Given the description of an element on the screen output the (x, y) to click on. 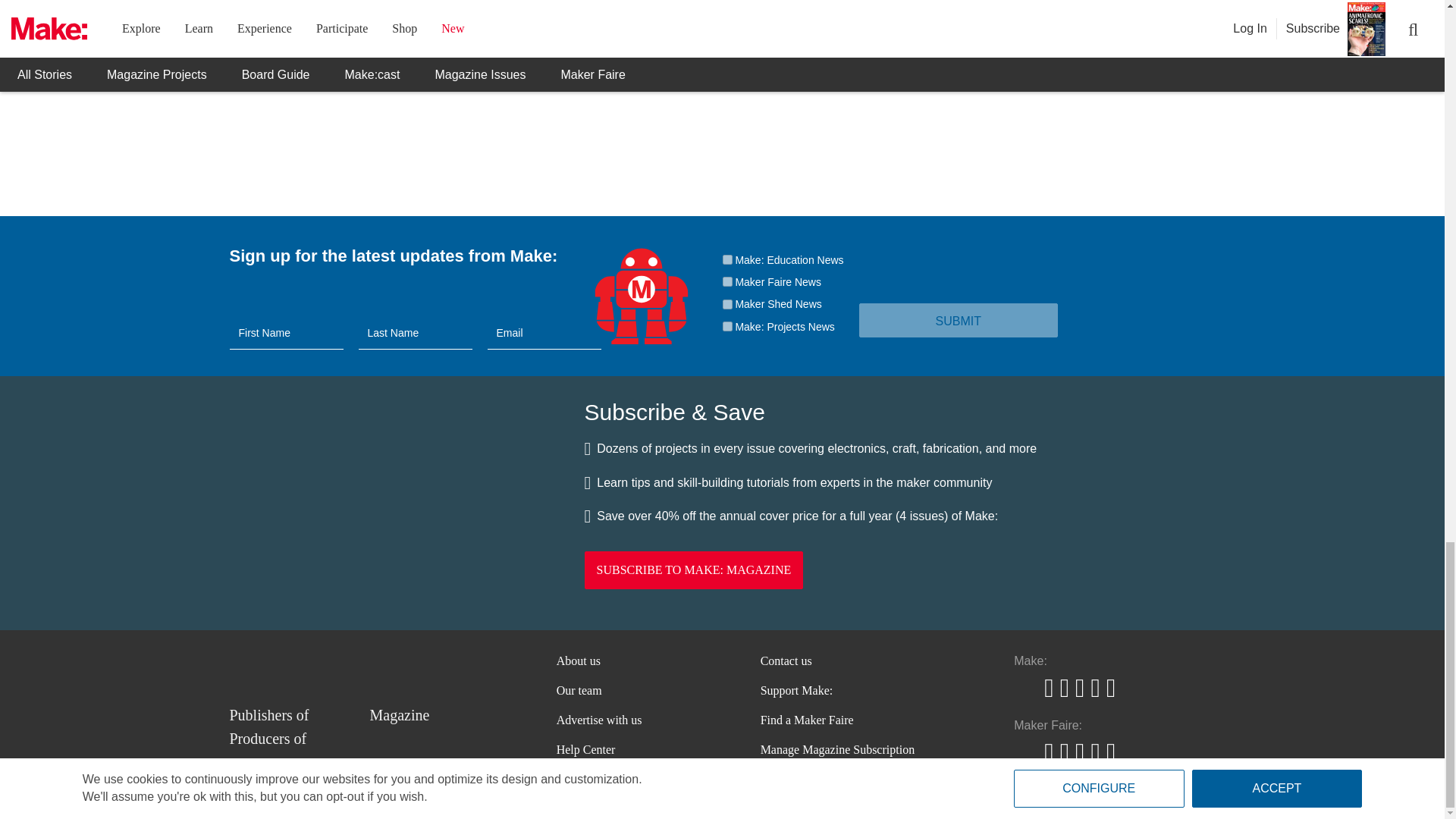
Maker Faire News (727, 281)
Maker Shed News (727, 304)
Make: Projects News (727, 326)
Make: Education News (727, 259)
